Given the description of an element on the screen output the (x, y) to click on. 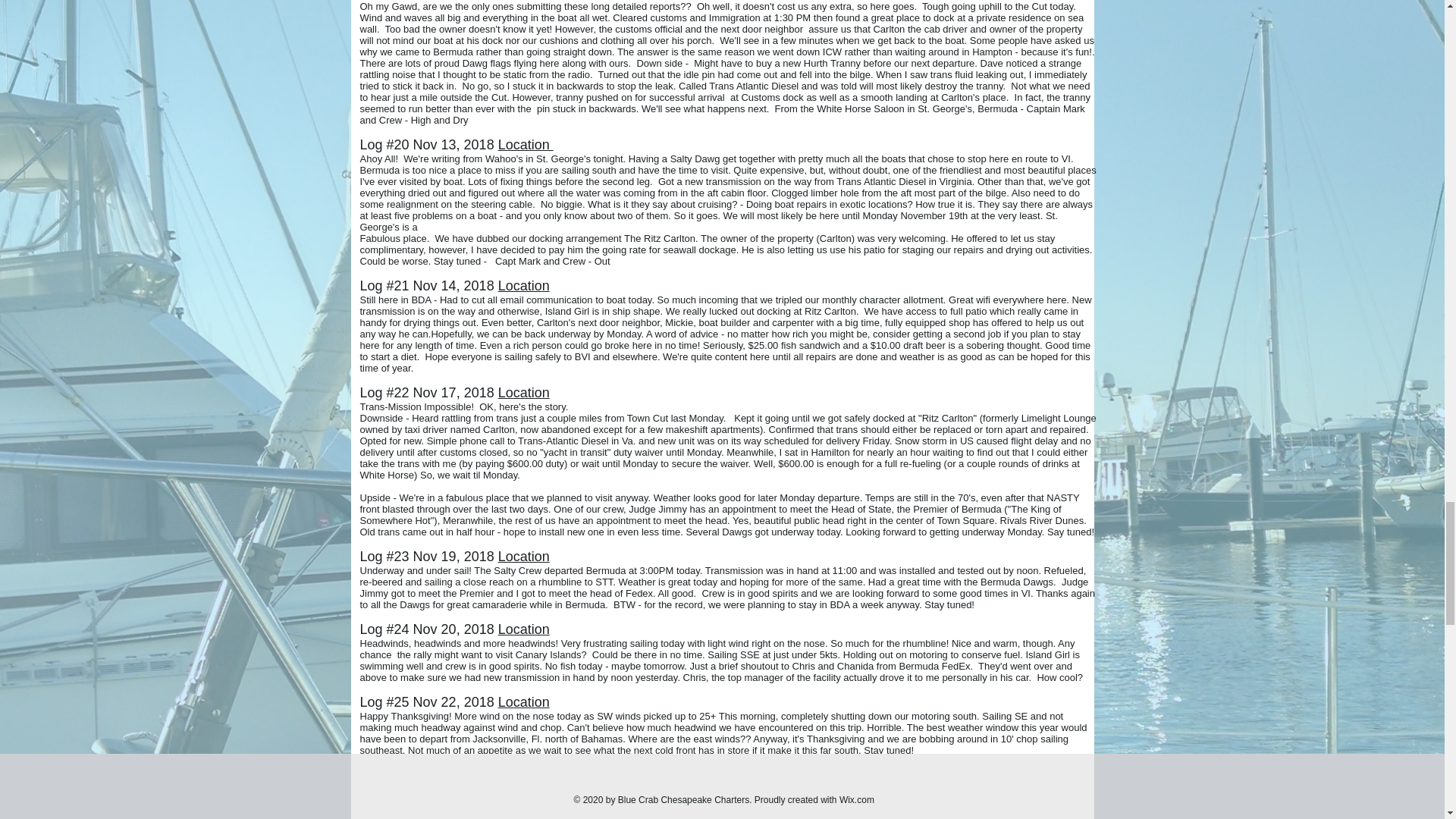
Location  (525, 145)
